Given the description of an element on the screen output the (x, y) to click on. 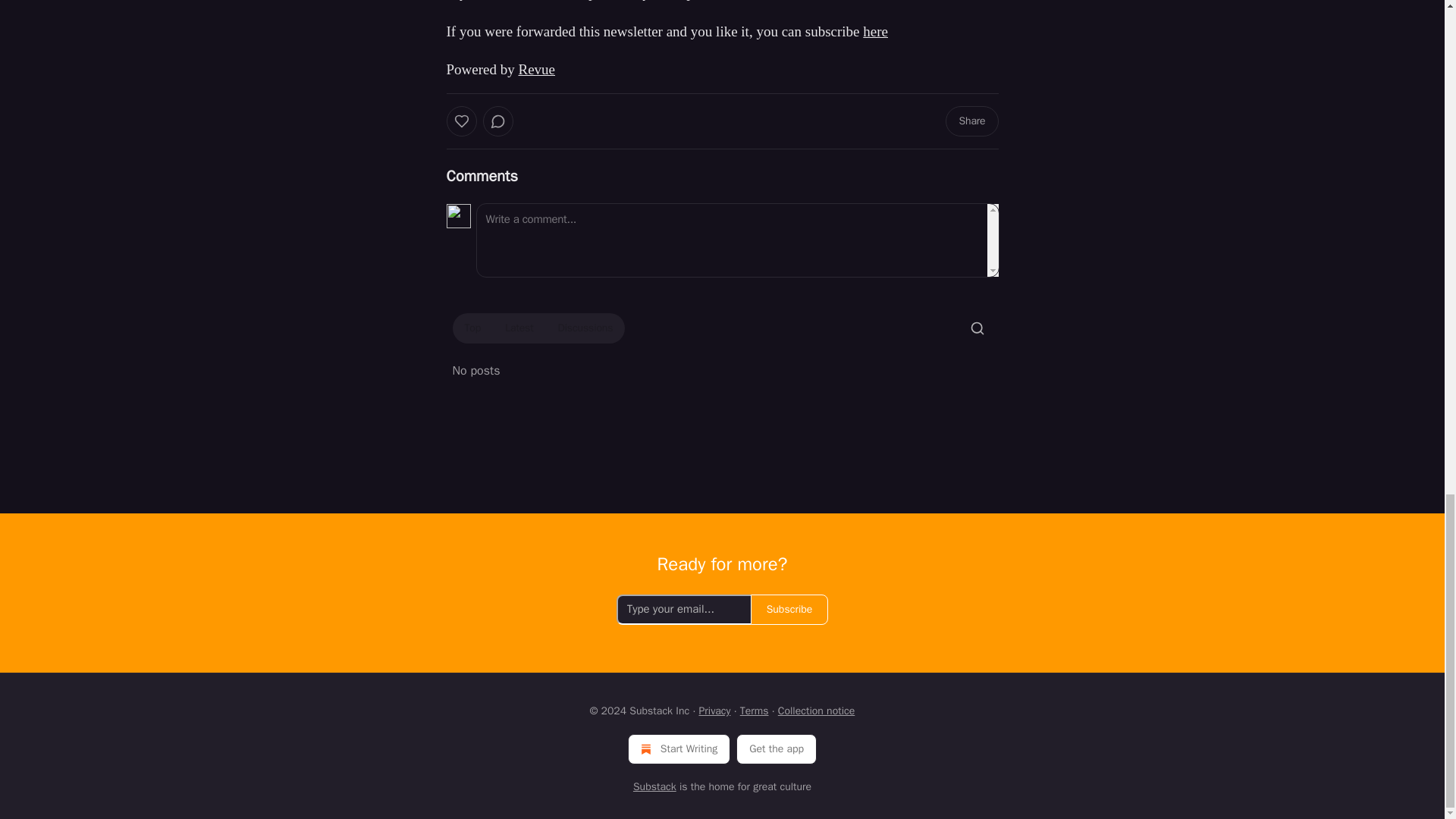
Revue (536, 68)
Top (471, 328)
Share (970, 121)
Latest (518, 328)
here (875, 30)
